Given the description of an element on the screen output the (x, y) to click on. 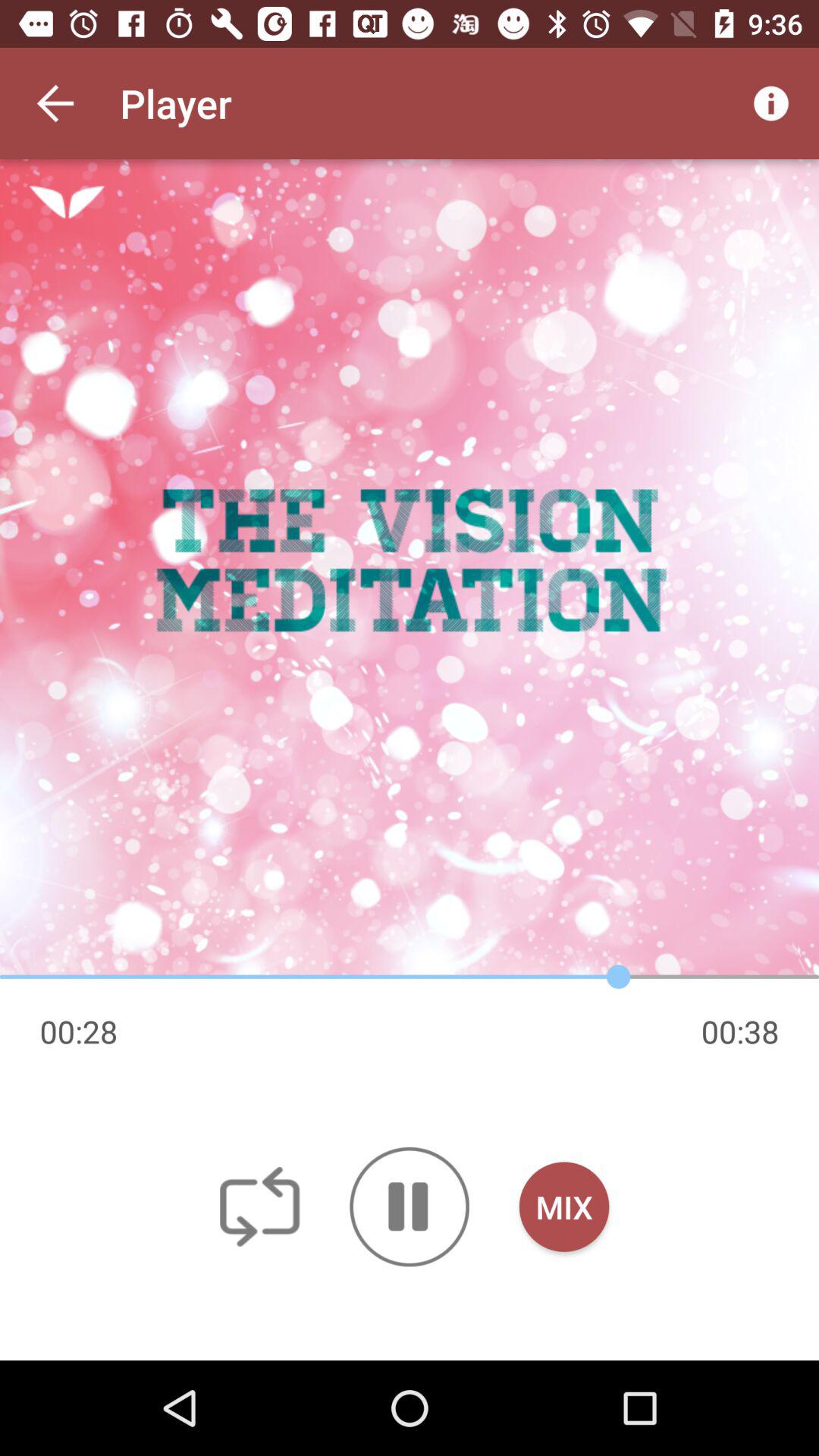
swipe until the mix icon (564, 1206)
